Given the description of an element on the screen output the (x, y) to click on. 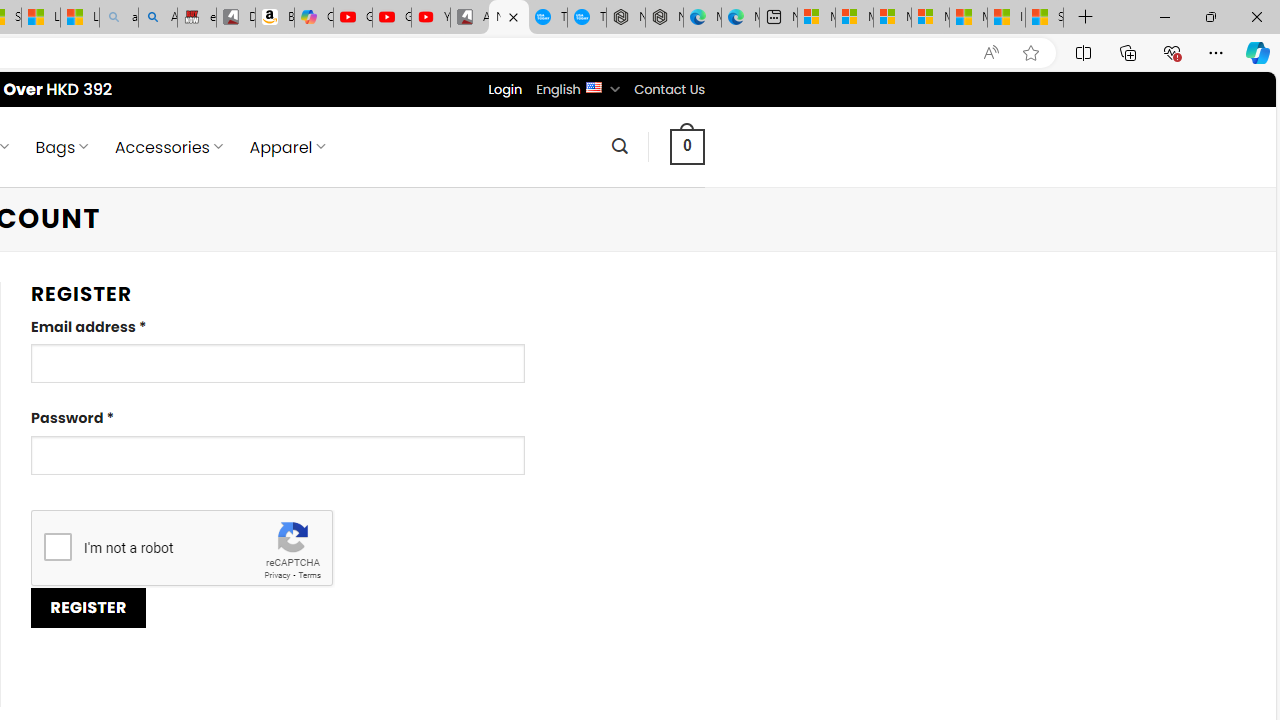
 0  (687, 146)
Amazon Echo Dot PNG - Search Images (157, 17)
English (592, 86)
I Gained 20 Pounds of Muscle in 30 Days! | Watch (1006, 17)
I'm not a robot (57, 546)
